Given the description of an element on the screen output the (x, y) to click on. 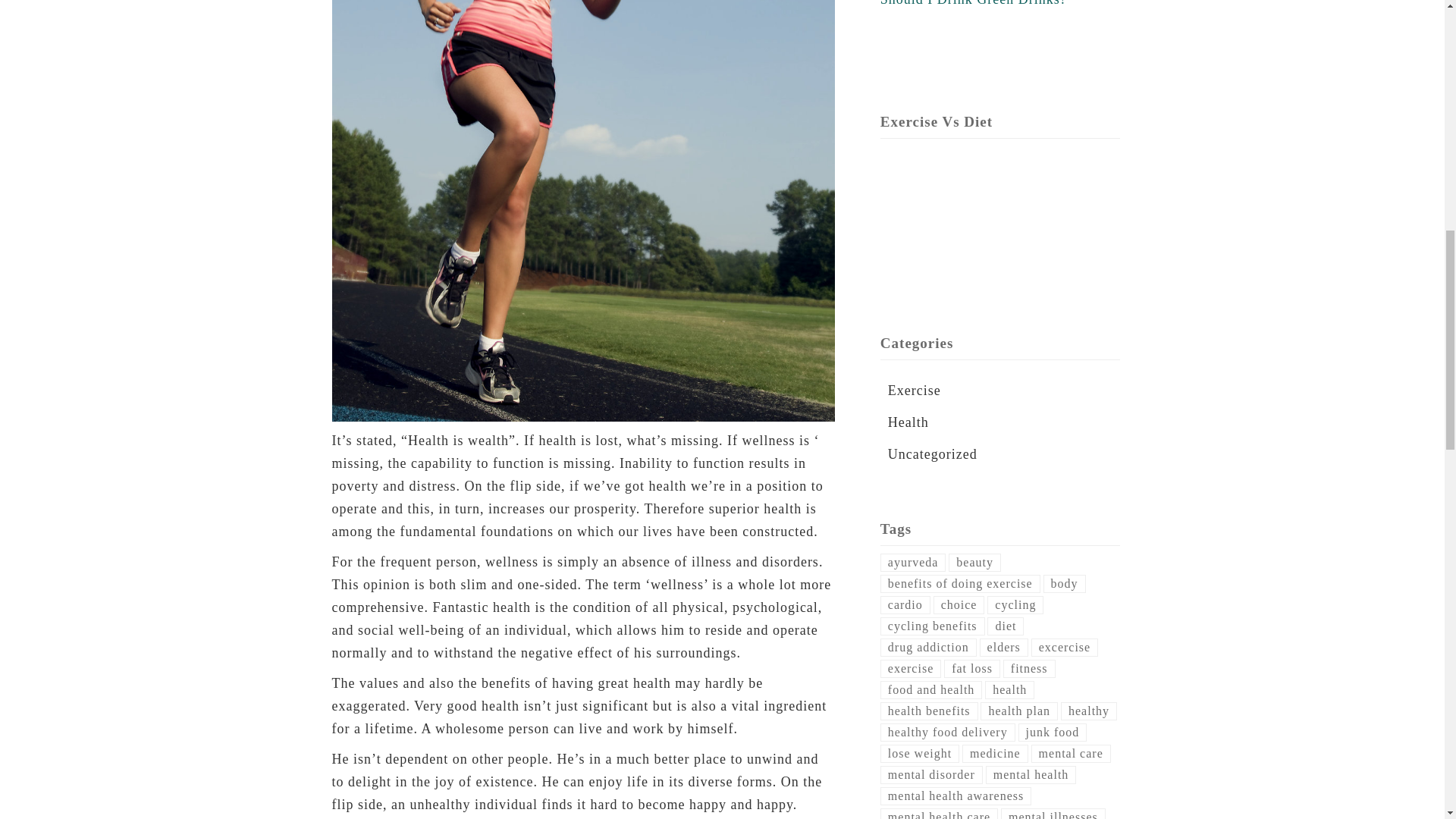
beauty (975, 562)
body (1064, 583)
cardio (905, 605)
benefits of doing exercise (960, 583)
Should I Drink Green Drinks? (973, 3)
Uncategorized (932, 453)
drug addiction (928, 647)
cycling benefits (932, 626)
ayurveda (913, 562)
choice (959, 605)
